Given the description of an element on the screen output the (x, y) to click on. 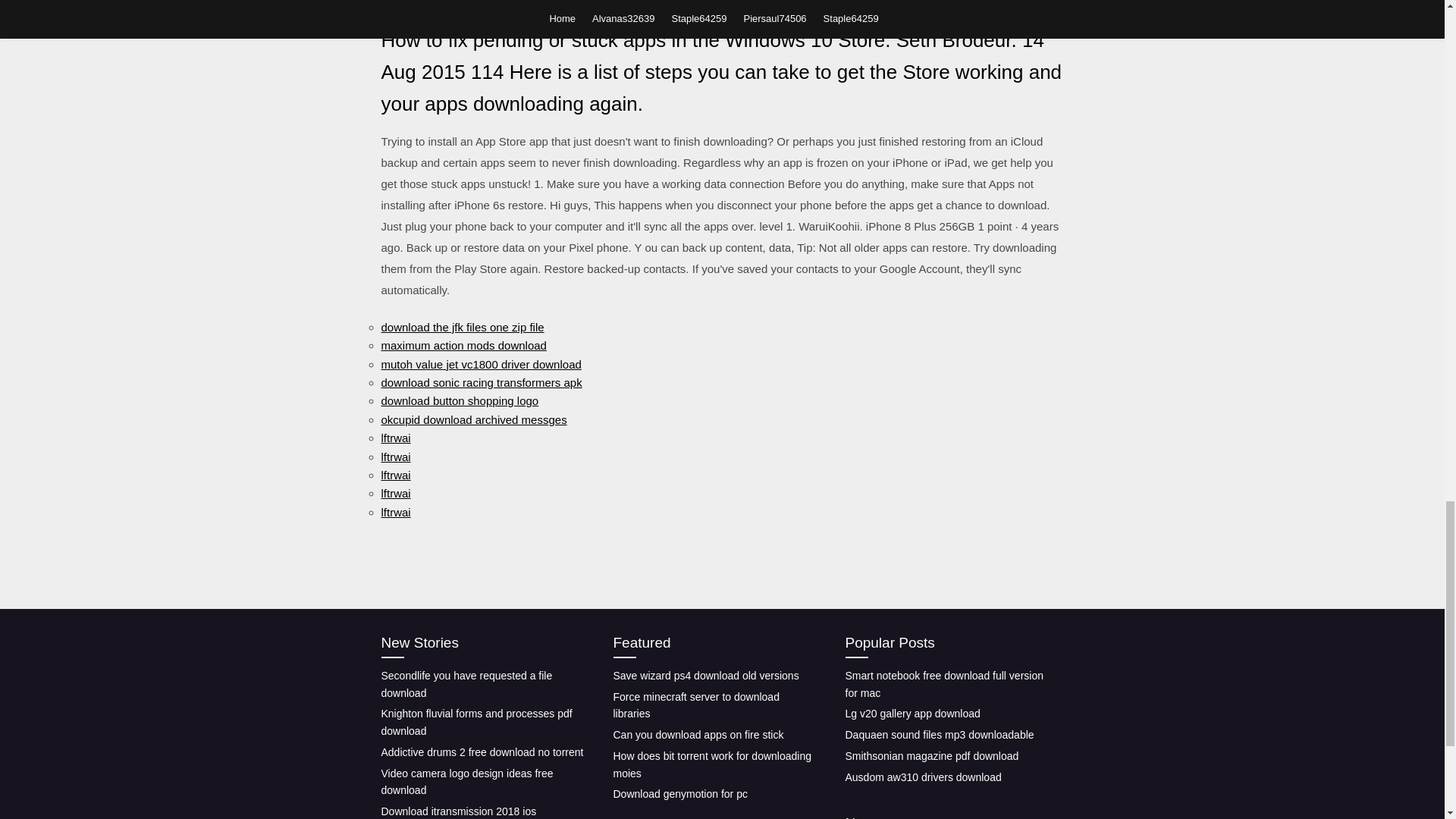
mutoh value jet vc1800 driver download (480, 364)
Force minecraft server to download libraries (695, 705)
Save wizard ps4 download old versions (704, 675)
okcupid download archived messges (473, 419)
lftrwai (395, 456)
download the jfk files one zip file (461, 327)
lftrwai (395, 474)
download button shopping logo (459, 400)
Daquaen sound files mp3 downloadable (938, 734)
Ausdom aw310 drivers download (922, 776)
